Given the description of an element on the screen output the (x, y) to click on. 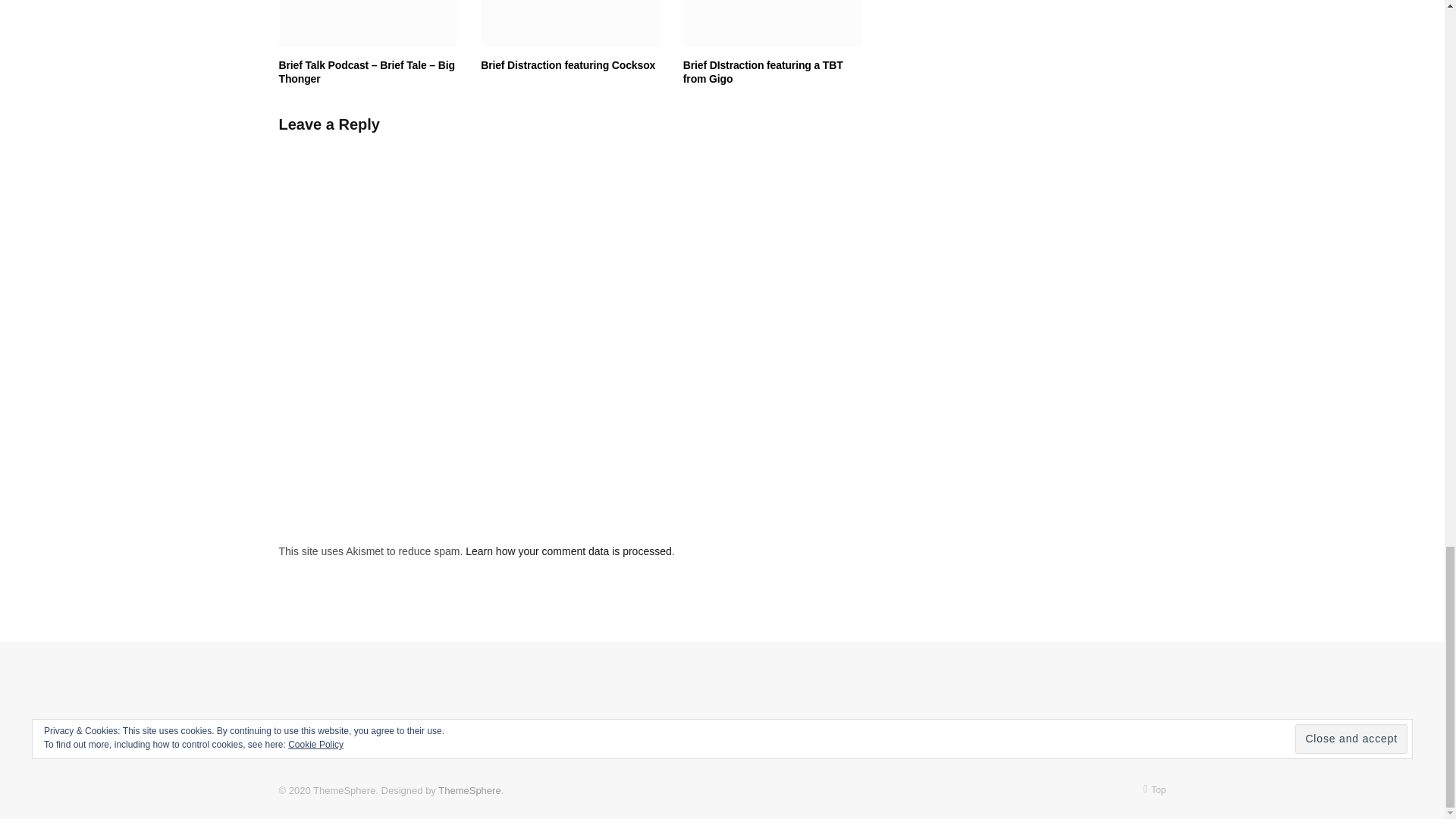
Brief Distraction featuring Cocksox (570, 22)
Brief DIstraction featuring a TBT from Gigo (772, 22)
